Given the description of an element on the screen output the (x, y) to click on. 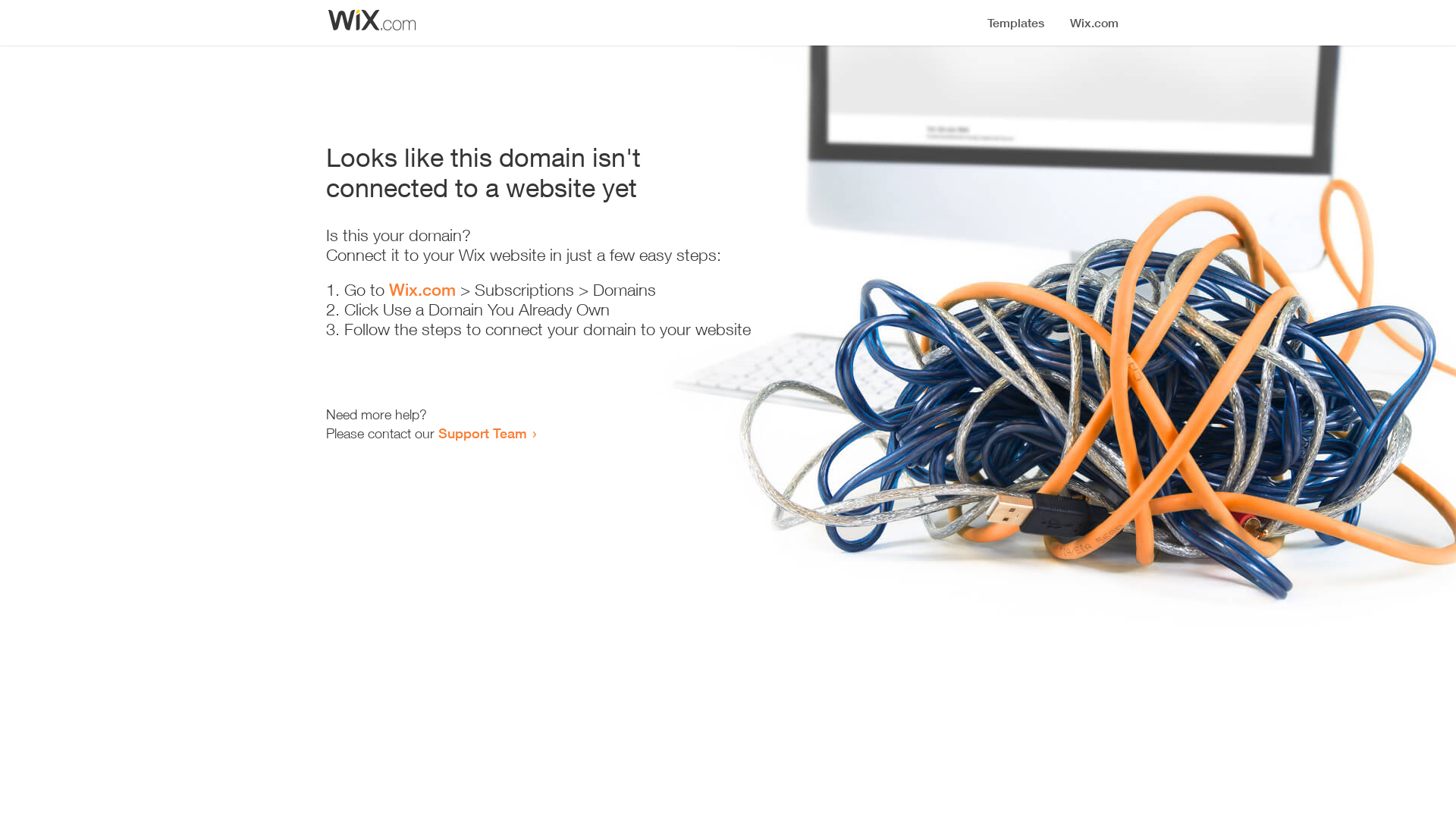
Support Team Element type: text (482, 432)
Wix.com Element type: text (422, 289)
